Given the description of an element on the screen output the (x, y) to click on. 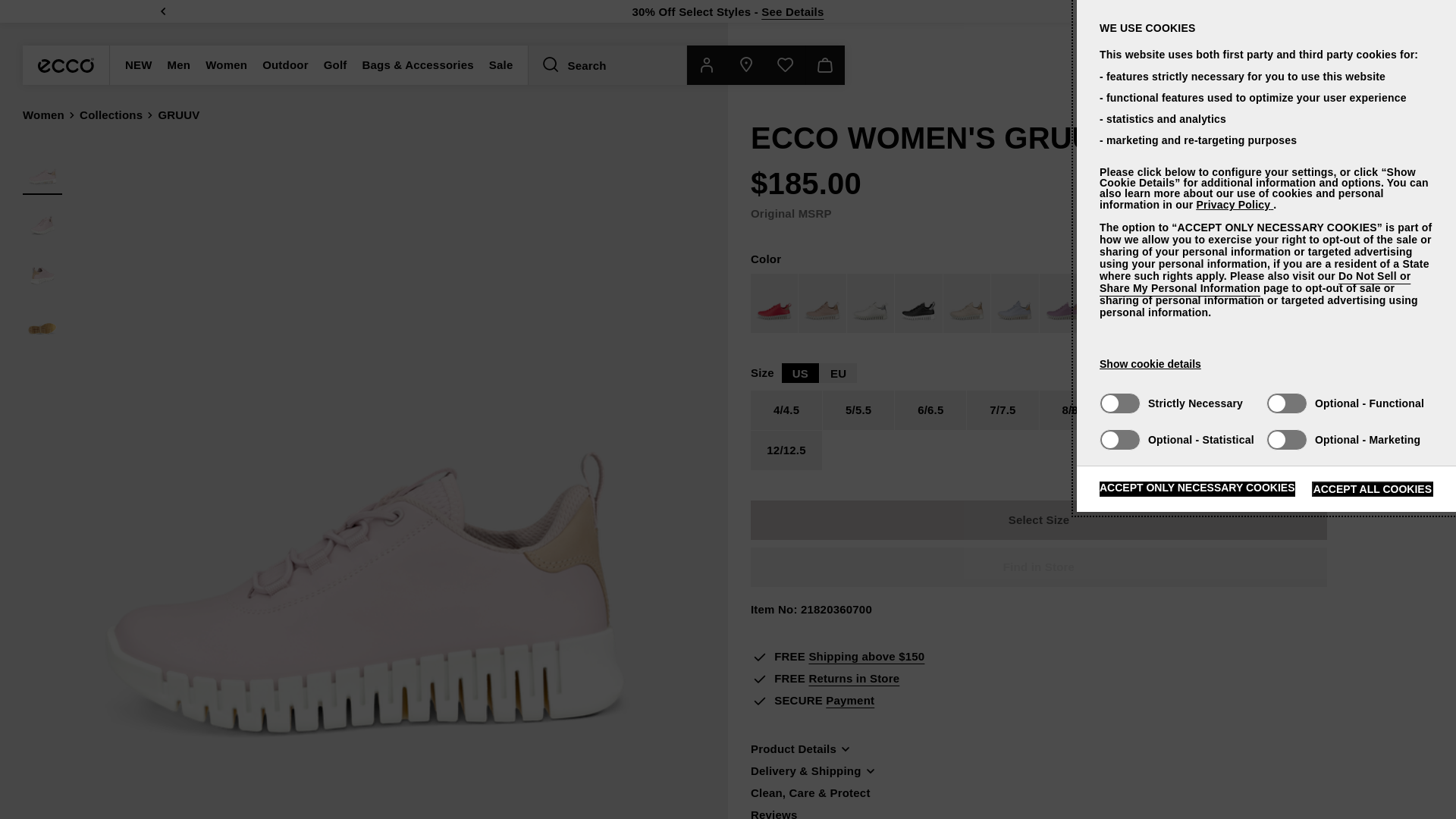
Do Not Sell or Share My Personal Information (1254, 282)
Privacy Policy (1233, 204)
Show cookie details (1150, 363)
